Given the description of an element on the screen output the (x, y) to click on. 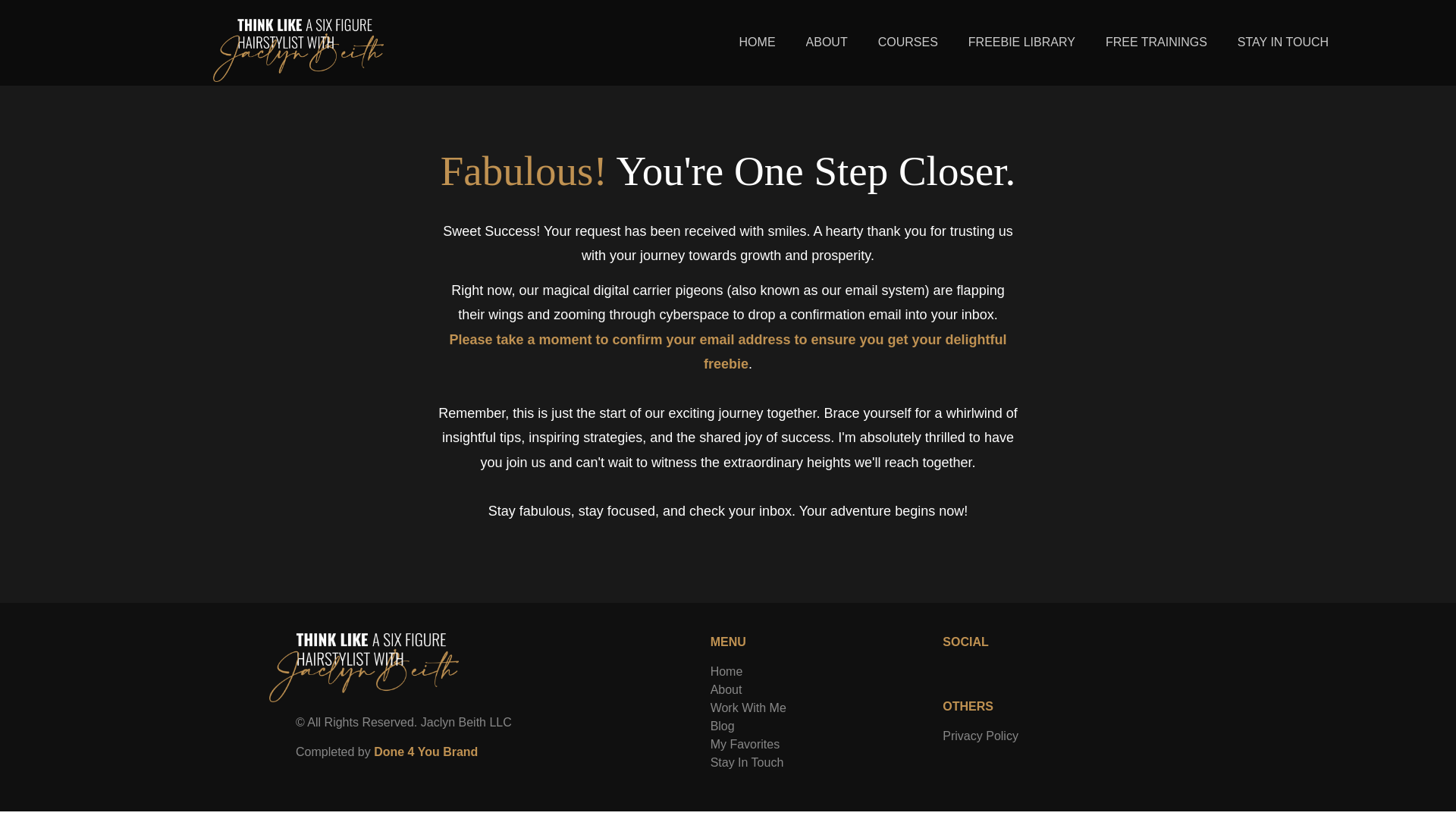
ABOUT (826, 42)
HOME (756, 42)
STAY IN TOUCH (1282, 42)
FREE TRAININGS (1156, 42)
Work With Me (748, 707)
Home (726, 671)
About (726, 689)
Privacy Policy (979, 735)
Stay In Touch (747, 762)
Blog (722, 725)
